Given the description of an element on the screen output the (x, y) to click on. 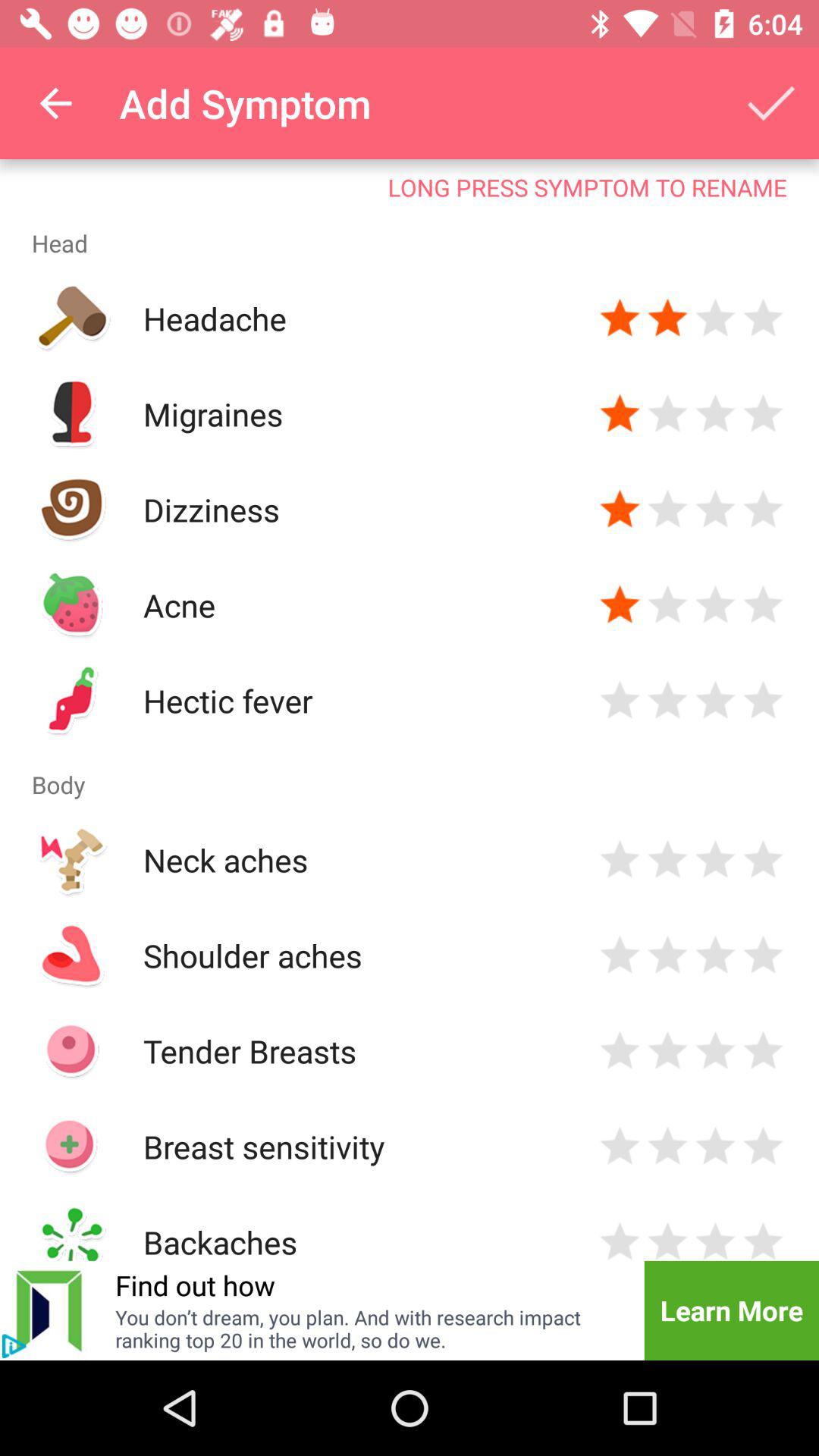
rating option (619, 700)
